Given the description of an element on the screen output the (x, y) to click on. 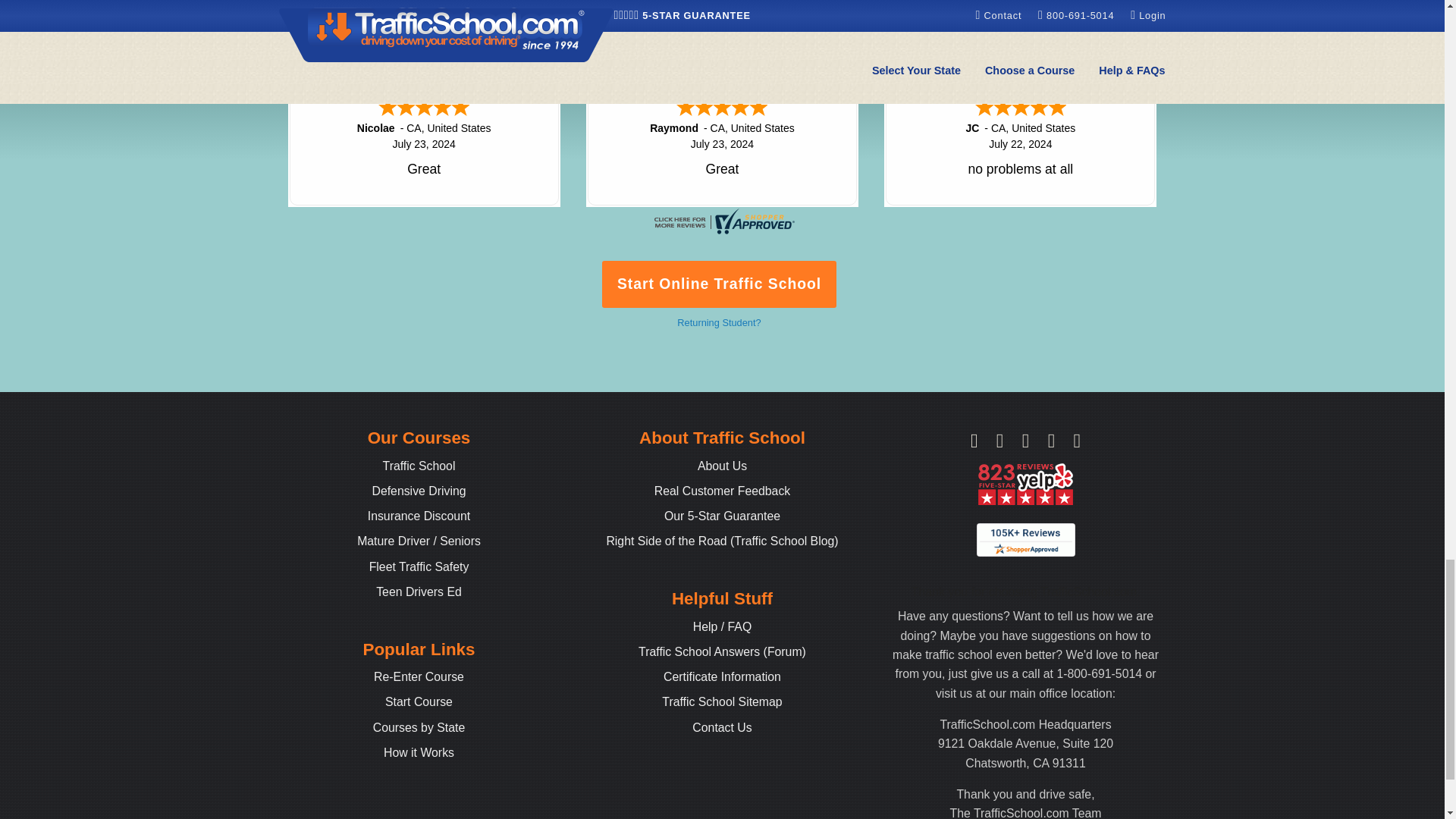
Mature Driving Course for Seniors (418, 540)
Auto Insurance Discount Course (419, 515)
Drivers Ed Online (418, 591)
Fleet Safety Online (418, 566)
Traffic School Registration (418, 701)
Traffic School Student Login (419, 676)
Traffic School Online (418, 465)
Online Defensive Driving (418, 490)
